Given the description of an element on the screen output the (x, y) to click on. 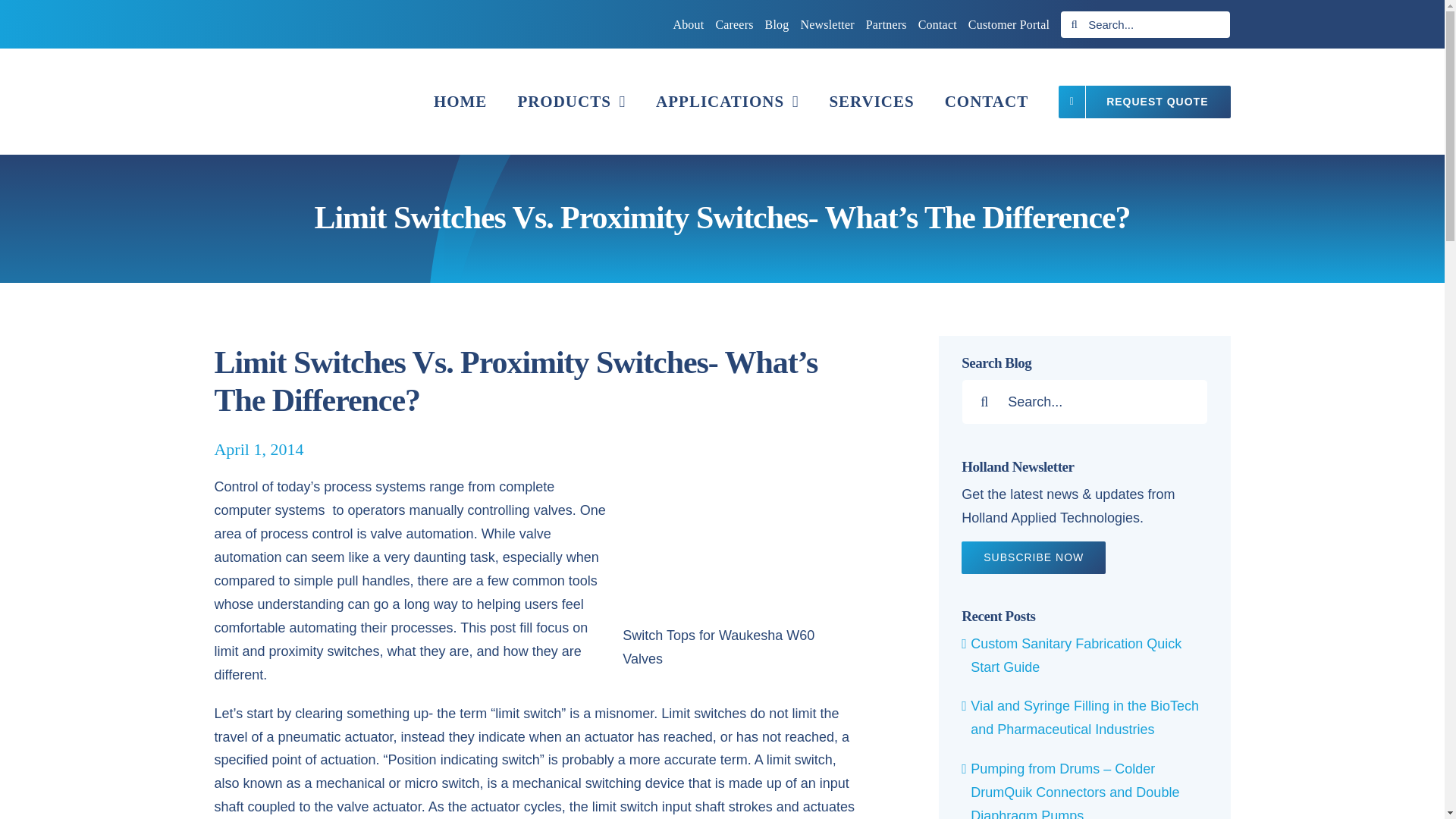
PRODUCTS (571, 101)
Newsletter (827, 24)
Customer Portal (1008, 24)
